Given the description of an element on the screen output the (x, y) to click on. 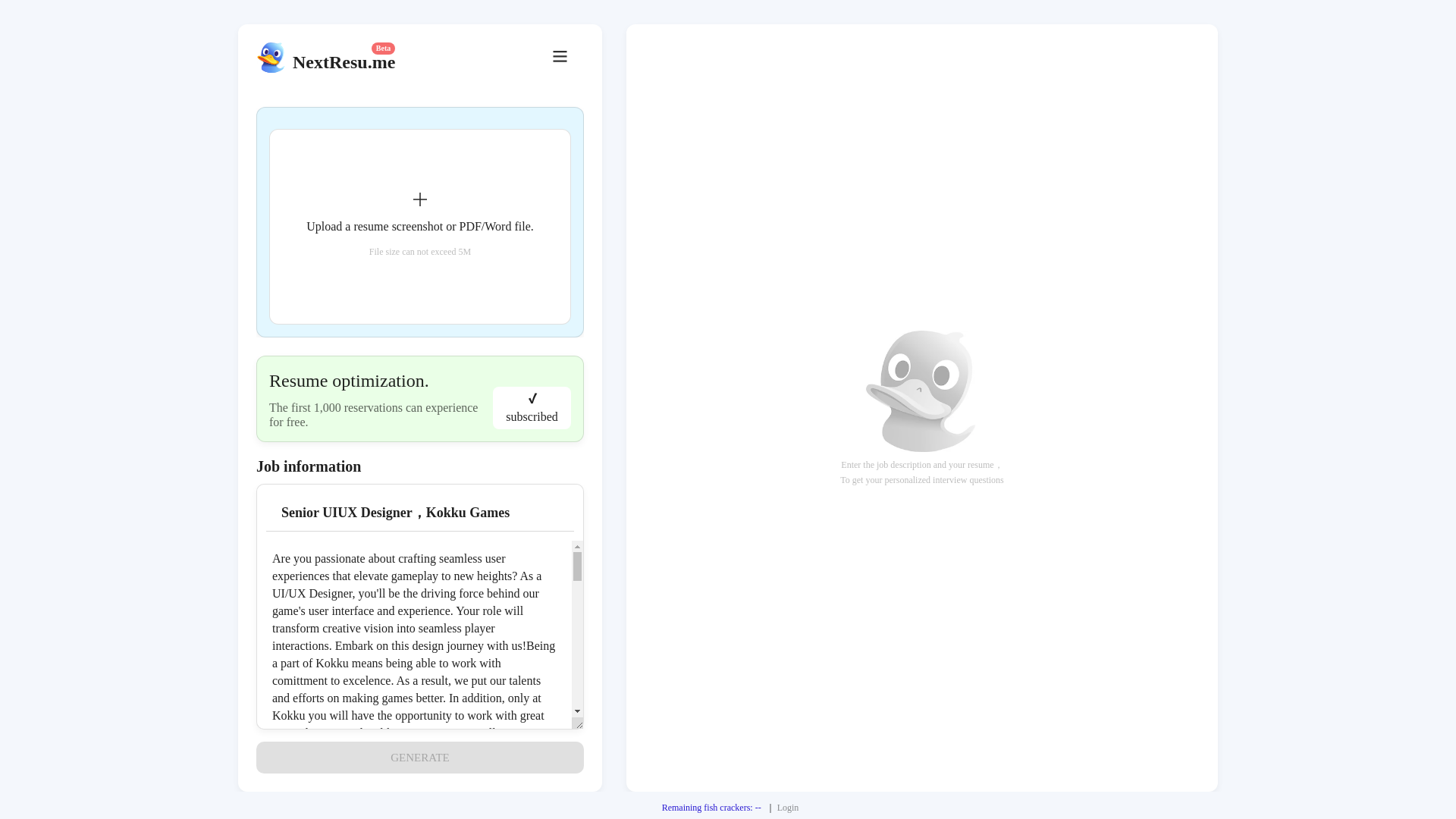
Login (788, 807)
Remaining fish crackers: -- (711, 807)
GENERATE (419, 757)
